Given the description of an element on the screen output the (x, y) to click on. 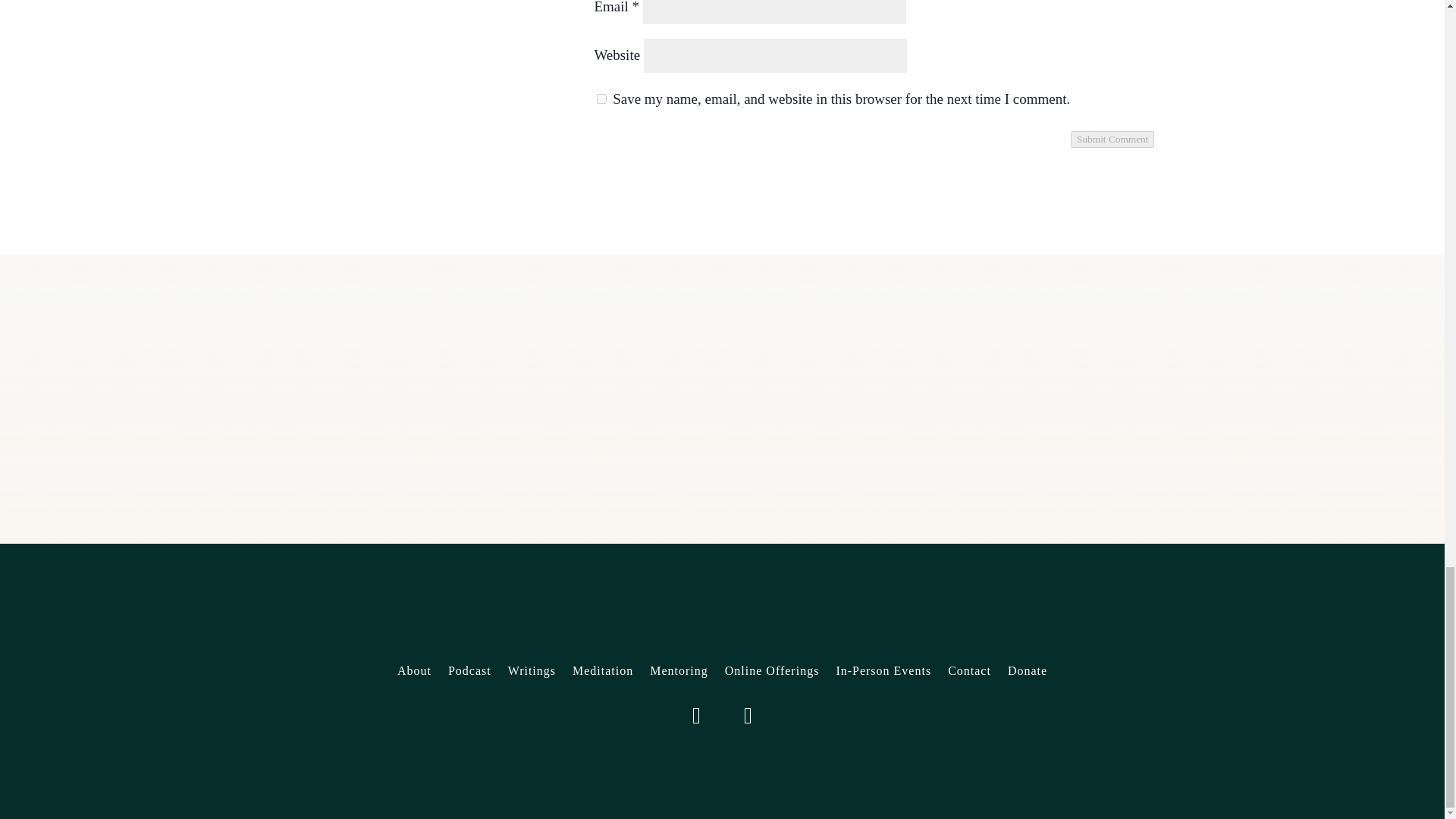
Follow on Instagram (695, 715)
About (413, 673)
Podcast (470, 673)
Follow on Facebook (747, 715)
Submit Comment (1112, 139)
yes (601, 99)
Writings (532, 673)
